Given the description of an element on the screen output the (x, y) to click on. 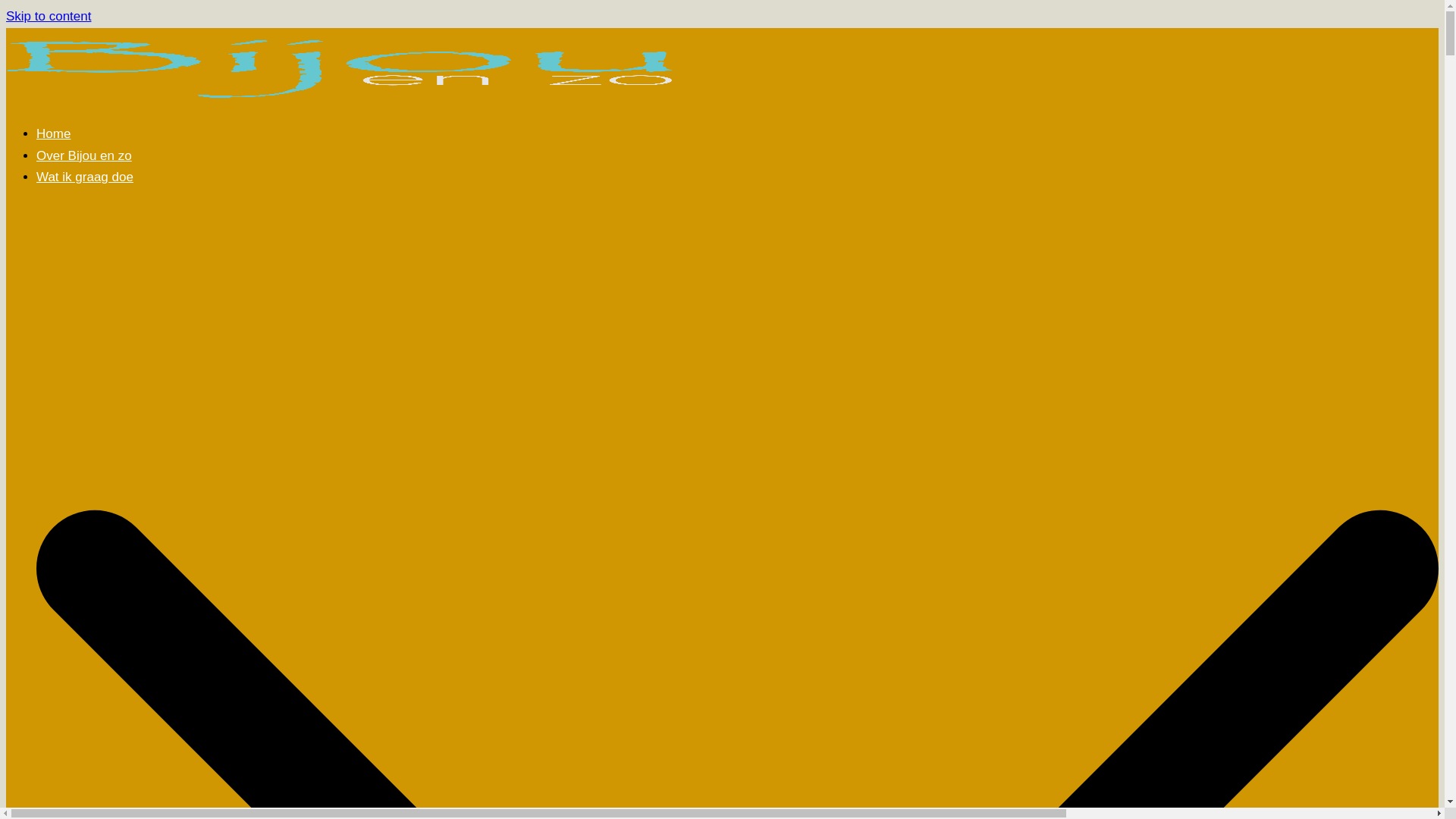
bijouenzo Element type: hover (347, 99)
Home Element type: text (53, 133)
Skip to content Element type: text (48, 16)
Wat ik graag doe Element type: text (84, 176)
Over Bijou en zo Element type: text (83, 155)
